Given the description of an element on the screen output the (x, y) to click on. 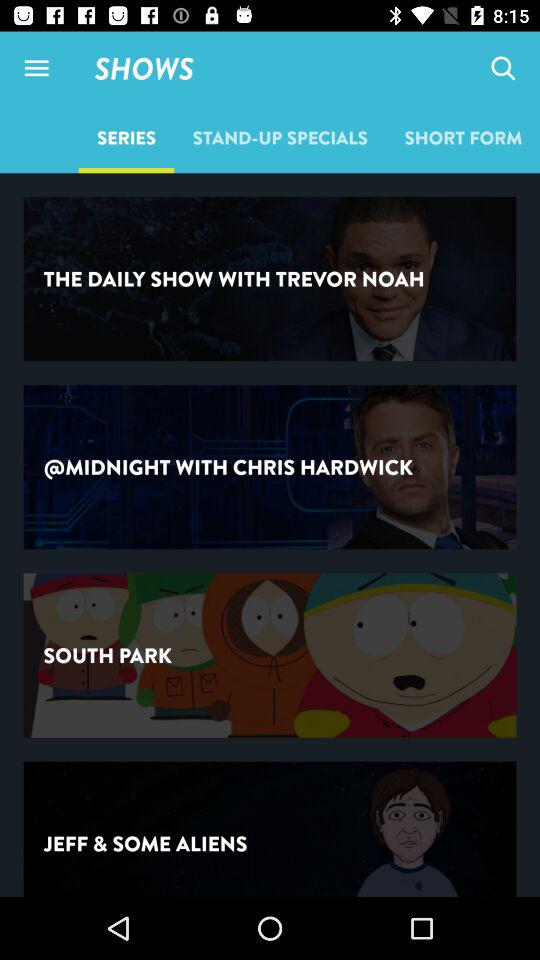
open/close menu (36, 68)
